Given the description of an element on the screen output the (x, y) to click on. 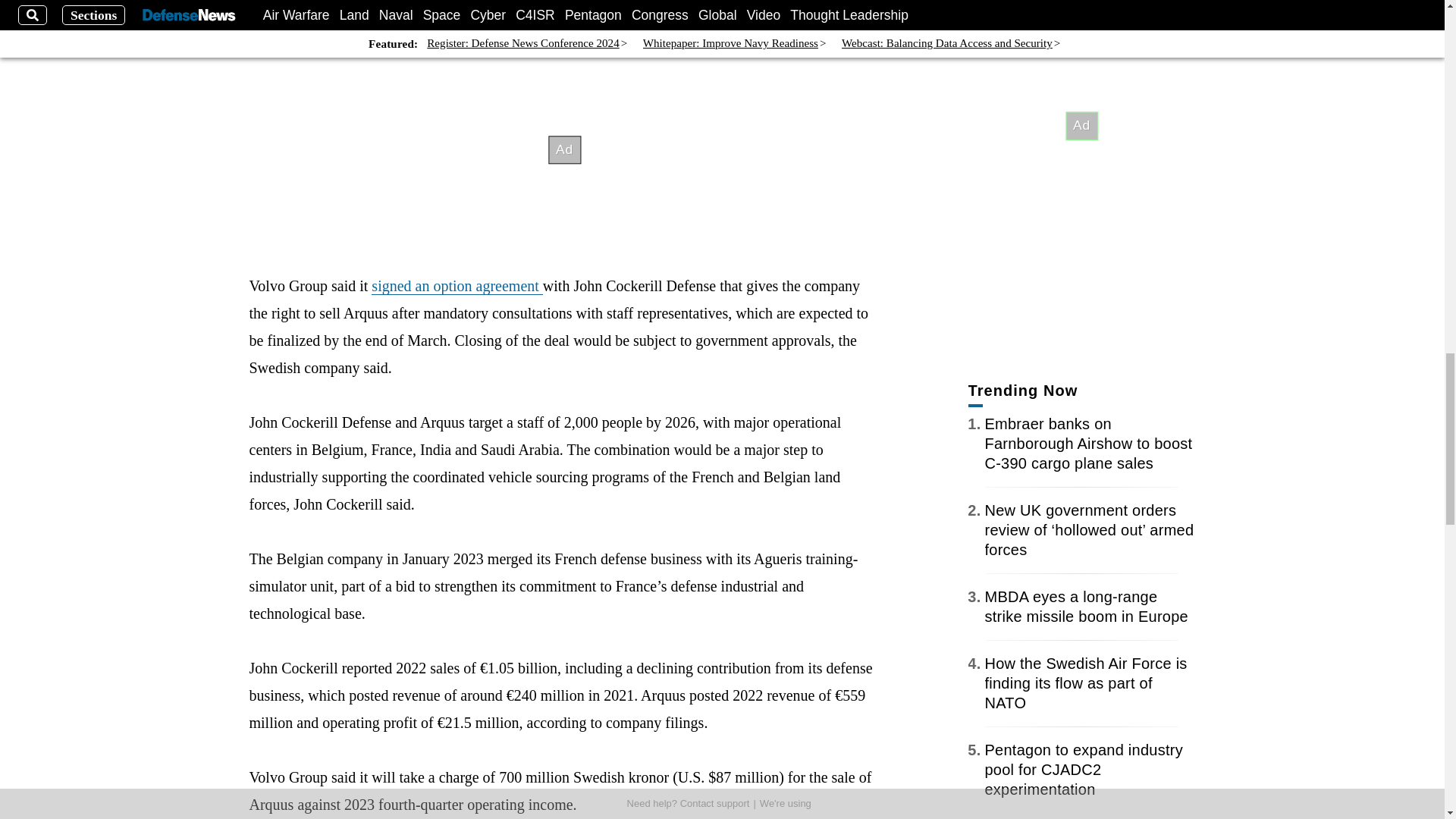
3rd party ad content (1081, 2)
